Given the description of an element on the screen output the (x, y) to click on. 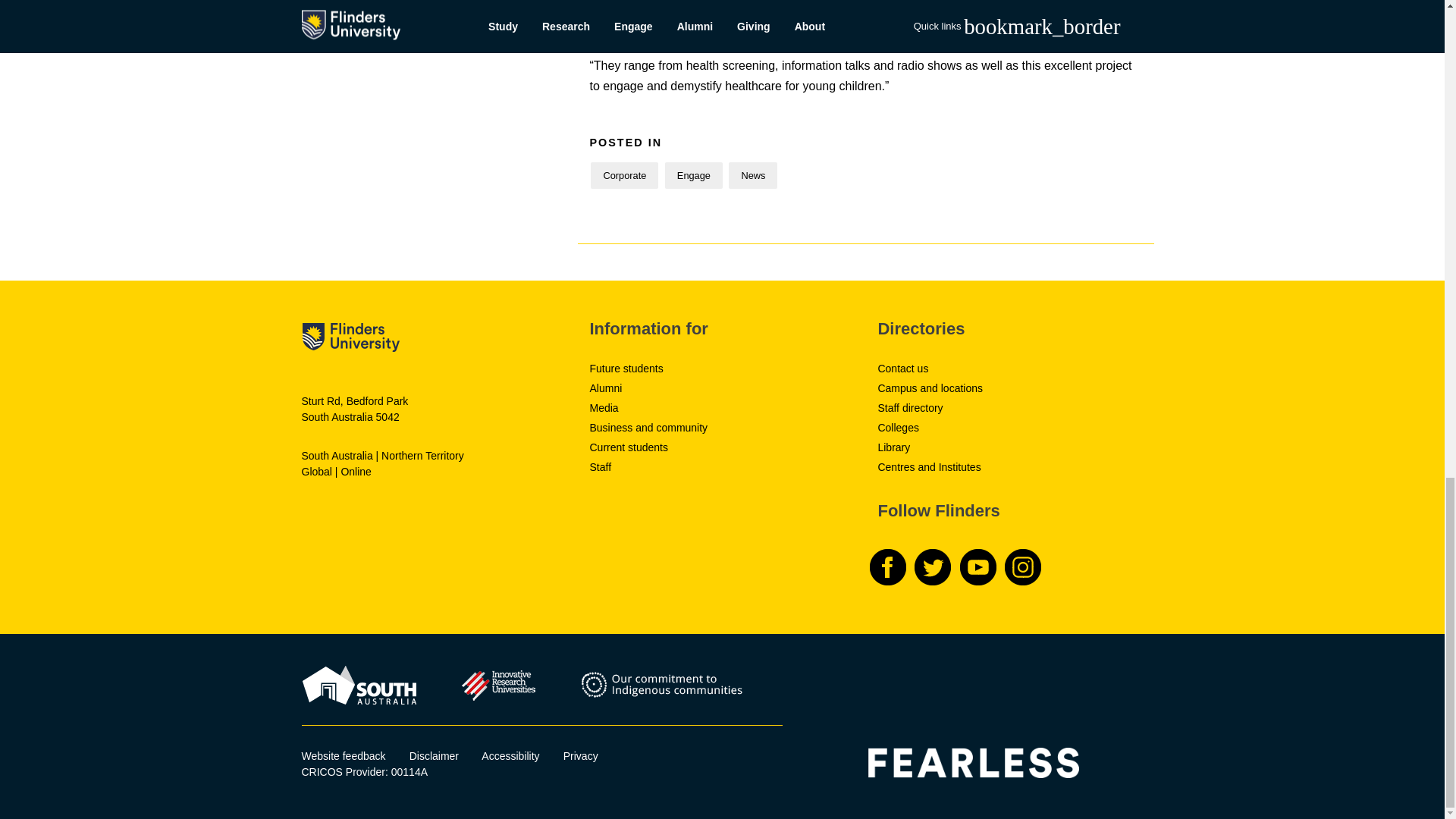
Engage (693, 175)
News (753, 175)
Corporate (624, 175)
